Given the description of an element on the screen output the (x, y) to click on. 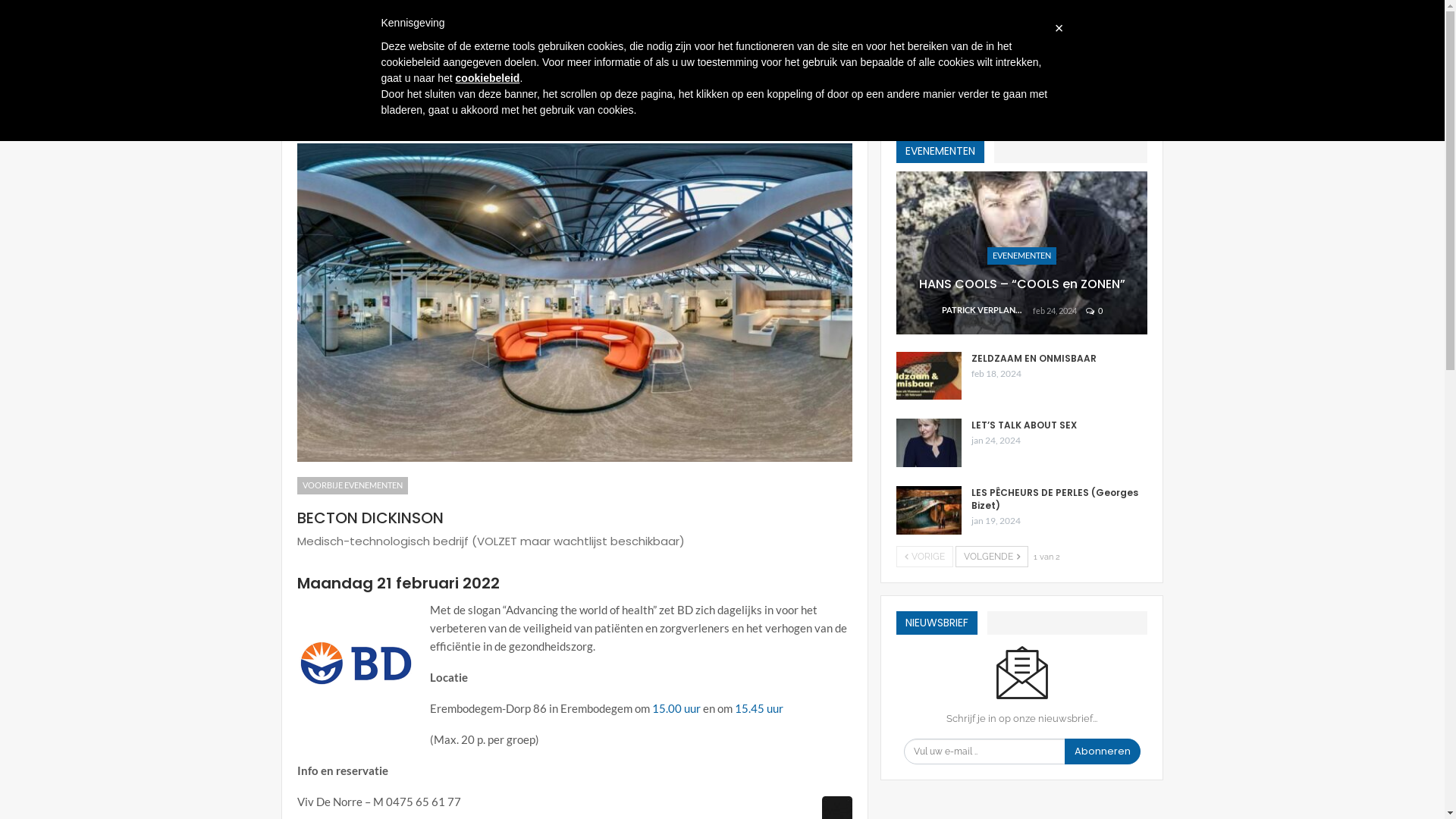
15.45 uur Element type: text (758, 708)
Abonneren Element type: text (1102, 751)
0 Element type: text (1093, 310)
cookiebeleid Element type: text (487, 78)
Home Element type: text (293, 108)
Lidmaatschap Element type: text (701, 12)
VORIGE Element type: text (924, 556)
EVENEMENTEN Element type: text (1015, 60)
EVENEMENTEN Element type: text (940, 150)
VOLGENDE Element type: text (991, 556)
Leden & Bestuur Element type: text (467, 12)
Activiteitenkalender Element type: text (617, 12)
ZELDZAAM EN ONMISBAAR Element type: text (1033, 357)
VOORBIJE EVENEMENTEN Element type: text (352, 485)
PATRICK VERPLANKEN Element type: text (986, 310)
15.00 uur Element type: text (676, 708)
Fotoalbum Element type: text (543, 12)
Voorbije evenementen Element type: text (370, 108)
DAVIDSFONDS ZOTTEGEM Element type: text (881, 60)
EVENEMENTEN Element type: text (1021, 255)
HOMEPAGE Element type: text (754, 60)
NIEUWS Element type: text (1100, 60)
ZELDZAAM EN ONMISBAAR Element type: hover (928, 375)
